Given the description of an element on the screen output the (x, y) to click on. 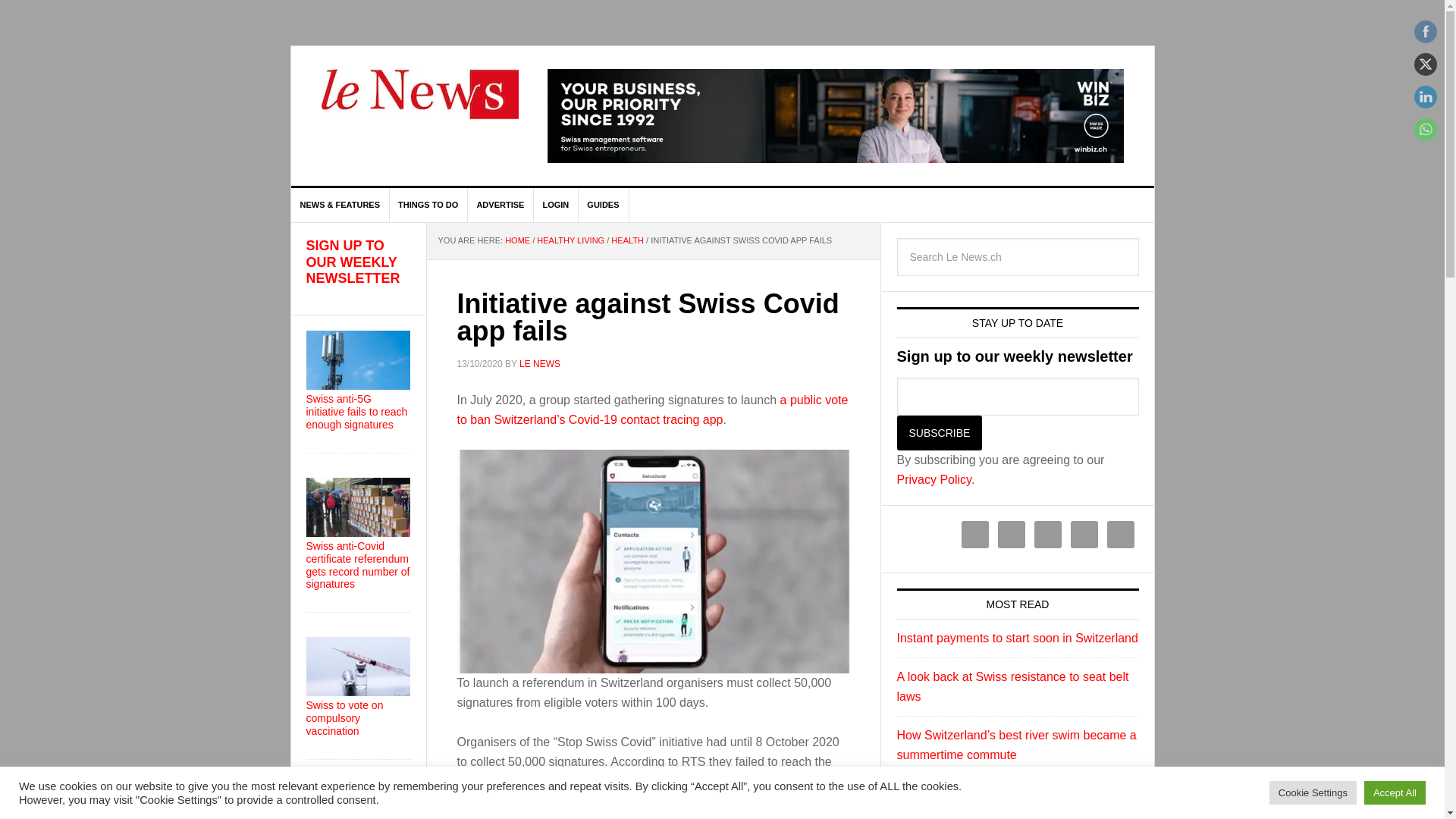
HOME (517, 239)
LE NEWS (539, 363)
HEALTH (627, 239)
HEALTHY LIVING (570, 239)
ADVERTISE (500, 204)
Subscribe (938, 432)
LE NEWS (419, 102)
WhatsApp (1425, 128)
THINGS TO DO (427, 204)
